Given the description of an element on the screen output the (x, y) to click on. 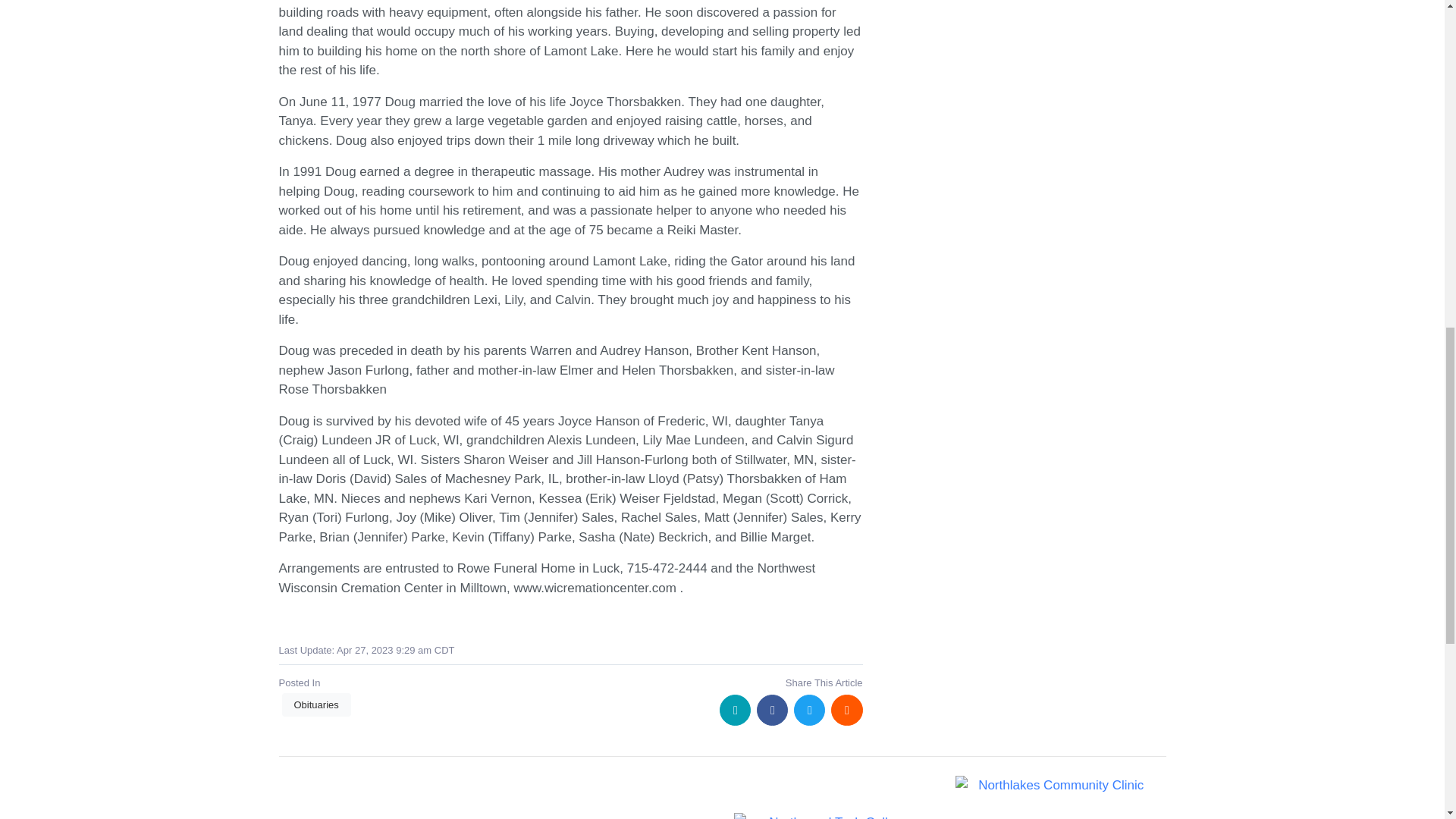
reddit (846, 709)
Northlakes Community Clinic (1054, 785)
Northwood Tech College (833, 816)
email (735, 709)
facebook (772, 709)
twitter (809, 709)
